Given the description of an element on the screen output the (x, y) to click on. 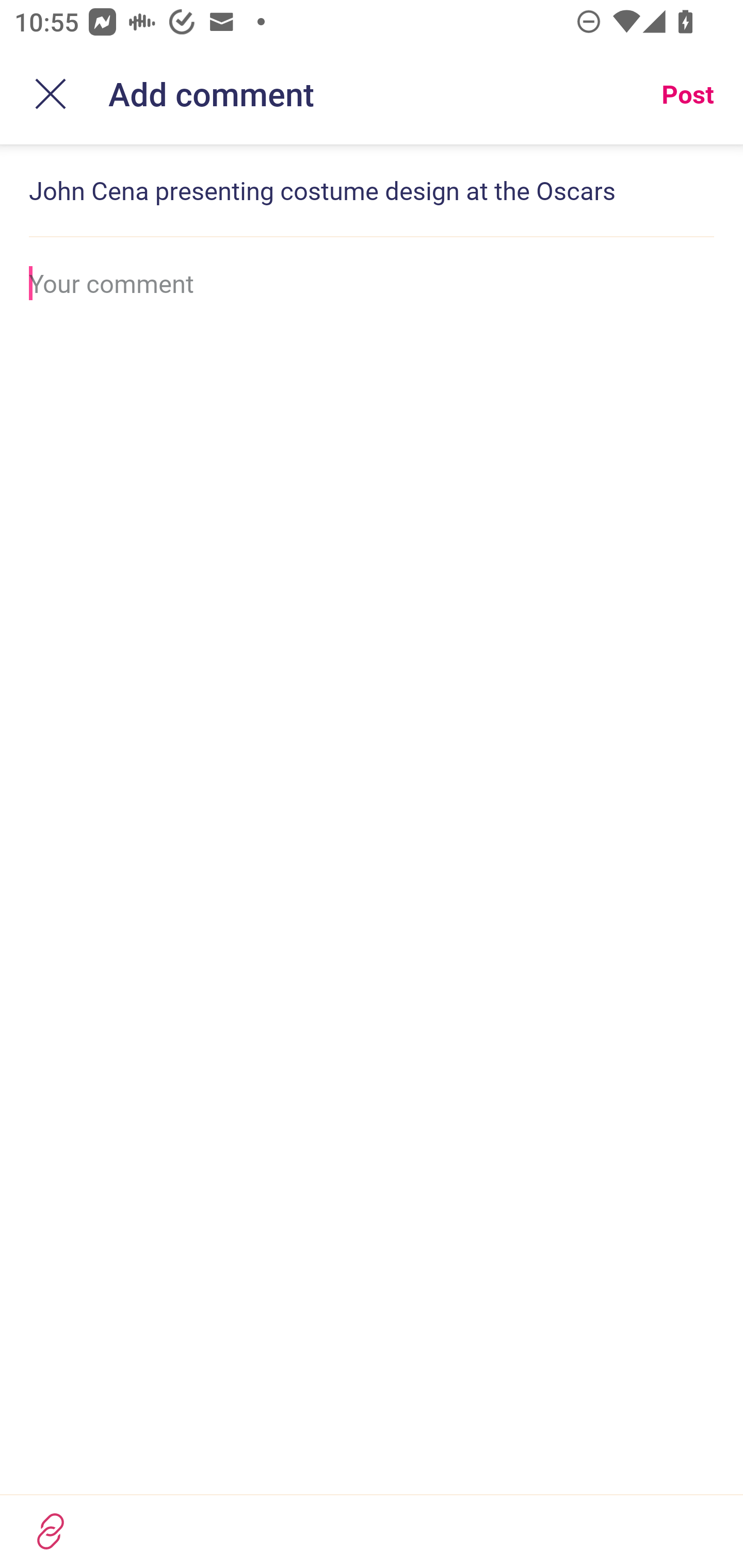
Close (50, 93)
Post (687, 94)
Your comment (371, 282)
Insert a link (371, 1531)
Insert a link (50, 1530)
